Given the description of an element on the screen output the (x, y) to click on. 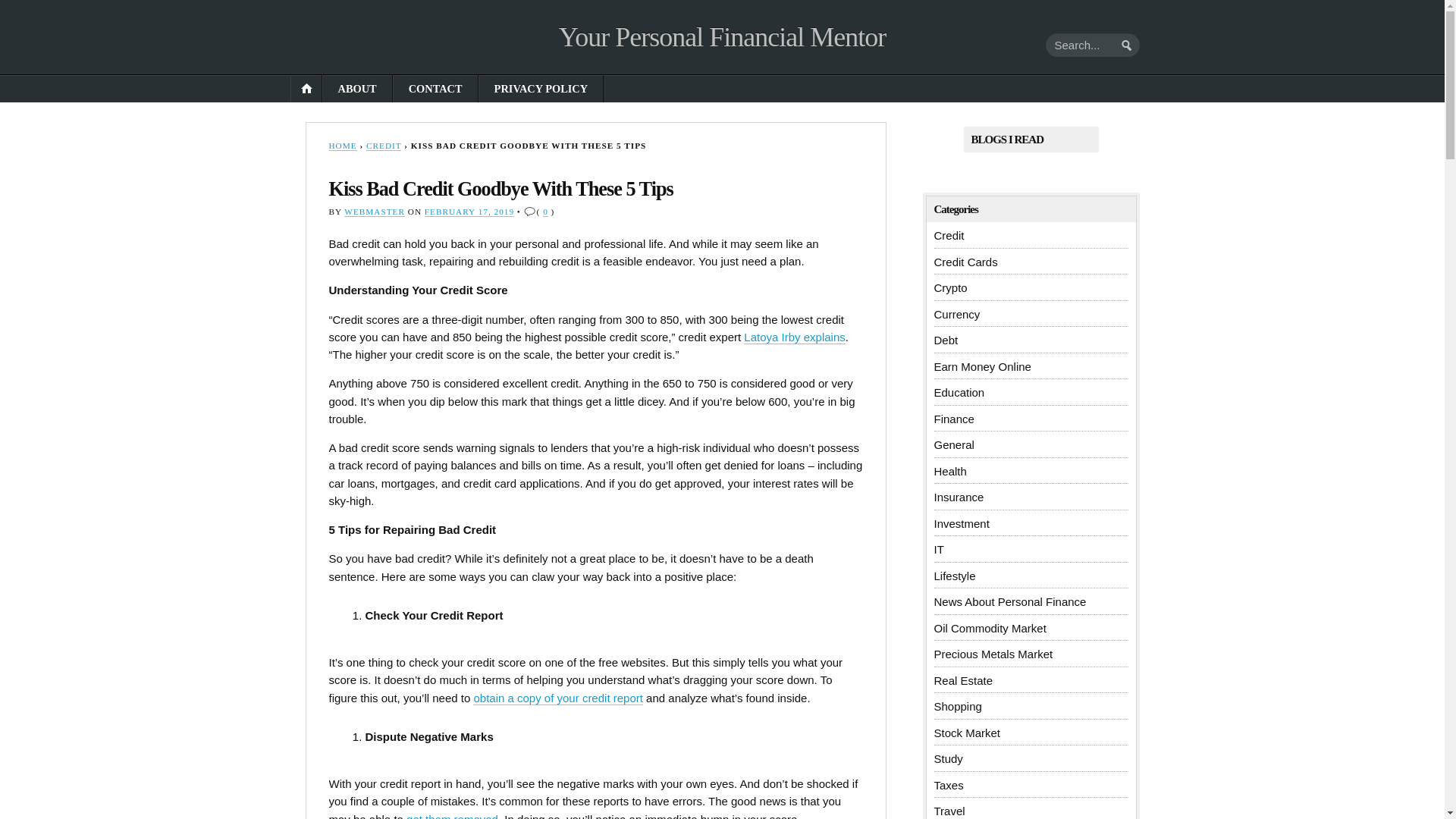
Latoya Irby explains (794, 336)
Currency (956, 314)
Debt (946, 339)
get them removed (451, 816)
HOME (342, 145)
Investment (962, 522)
Health (950, 471)
Crypto (951, 287)
Insurance (959, 496)
Credit (948, 235)
